Given the description of an element on the screen output the (x, y) to click on. 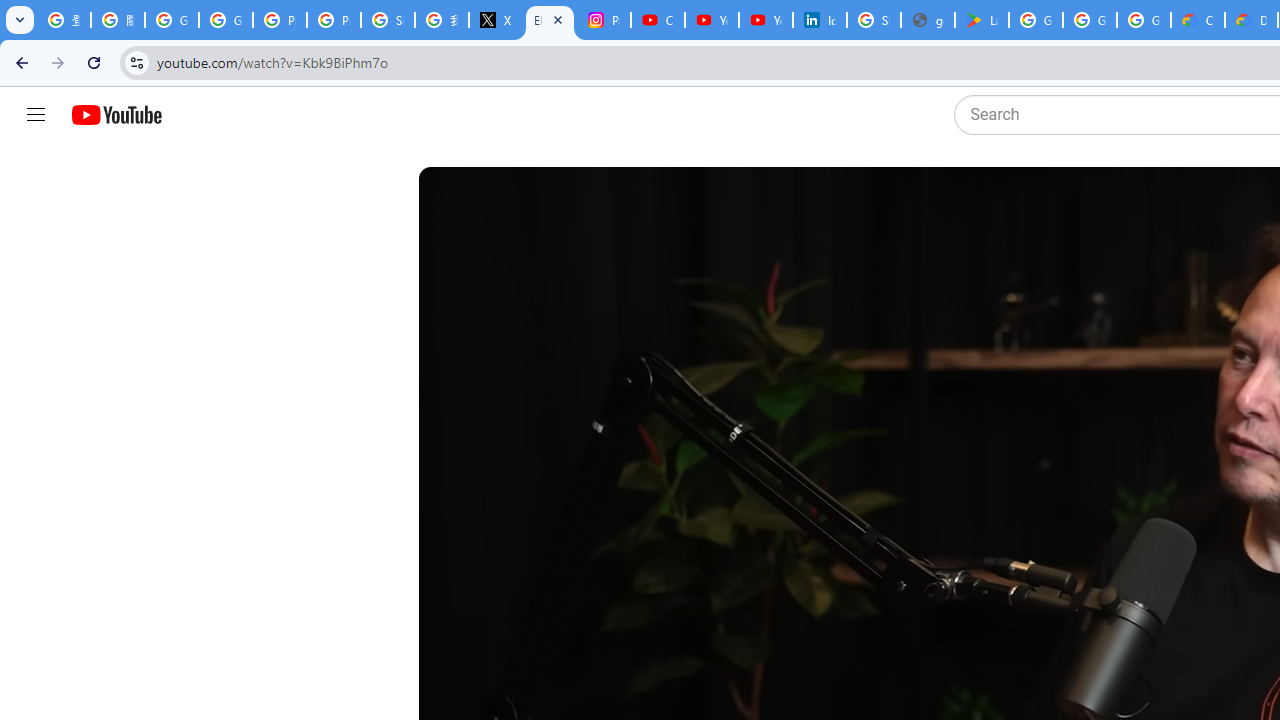
Last Shelter: Survival - Apps on Google Play (981, 20)
Customer Care | Google Cloud (1197, 20)
YouTube Culture & Trends - YouTube Top 10, 2021 (765, 20)
Privacy Help Center - Policies Help (333, 20)
